Given the description of an element on the screen output the (x, y) to click on. 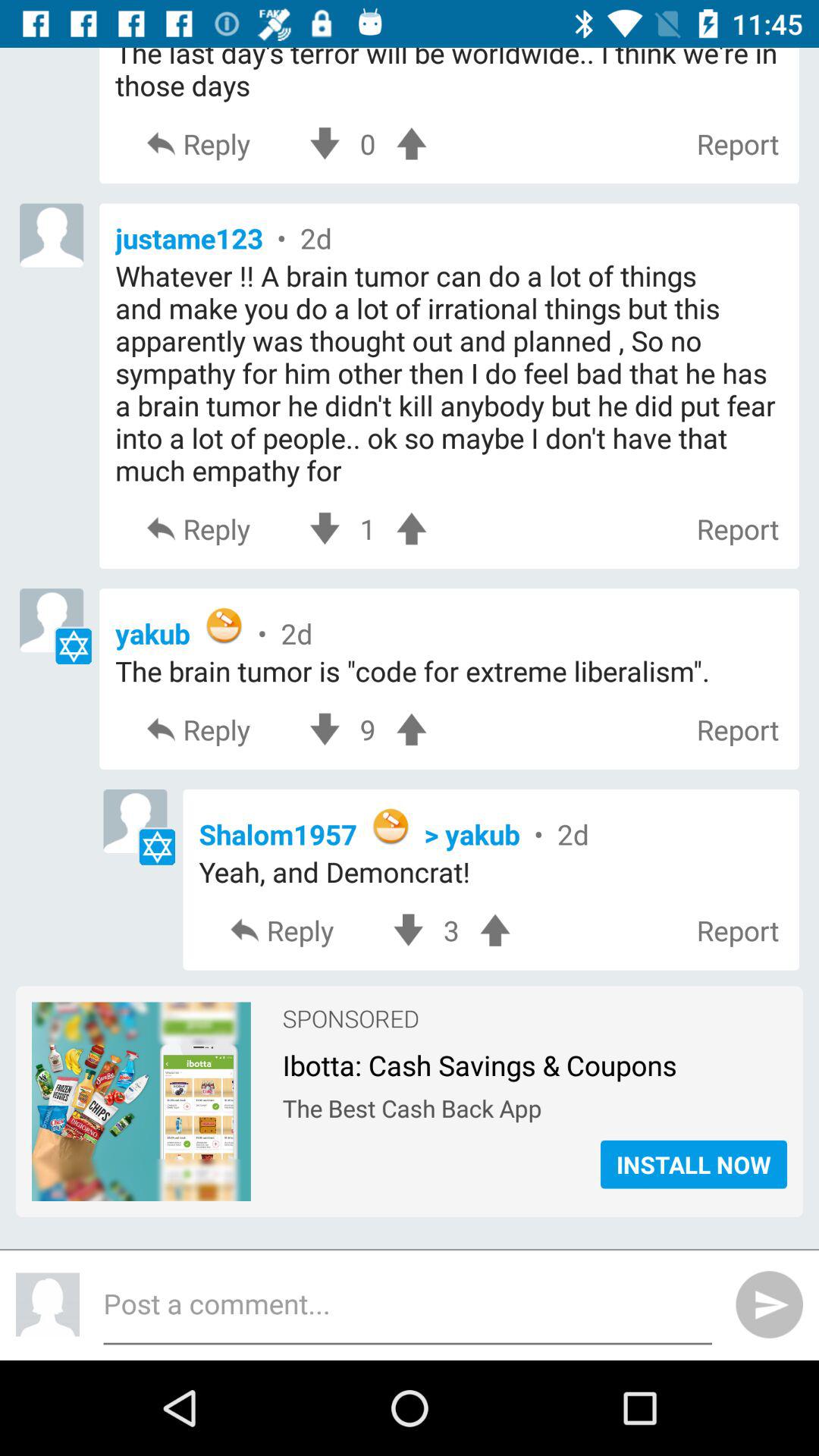
launch the 9 item (367, 729)
